Given the description of an element on the screen output the (x, y) to click on. 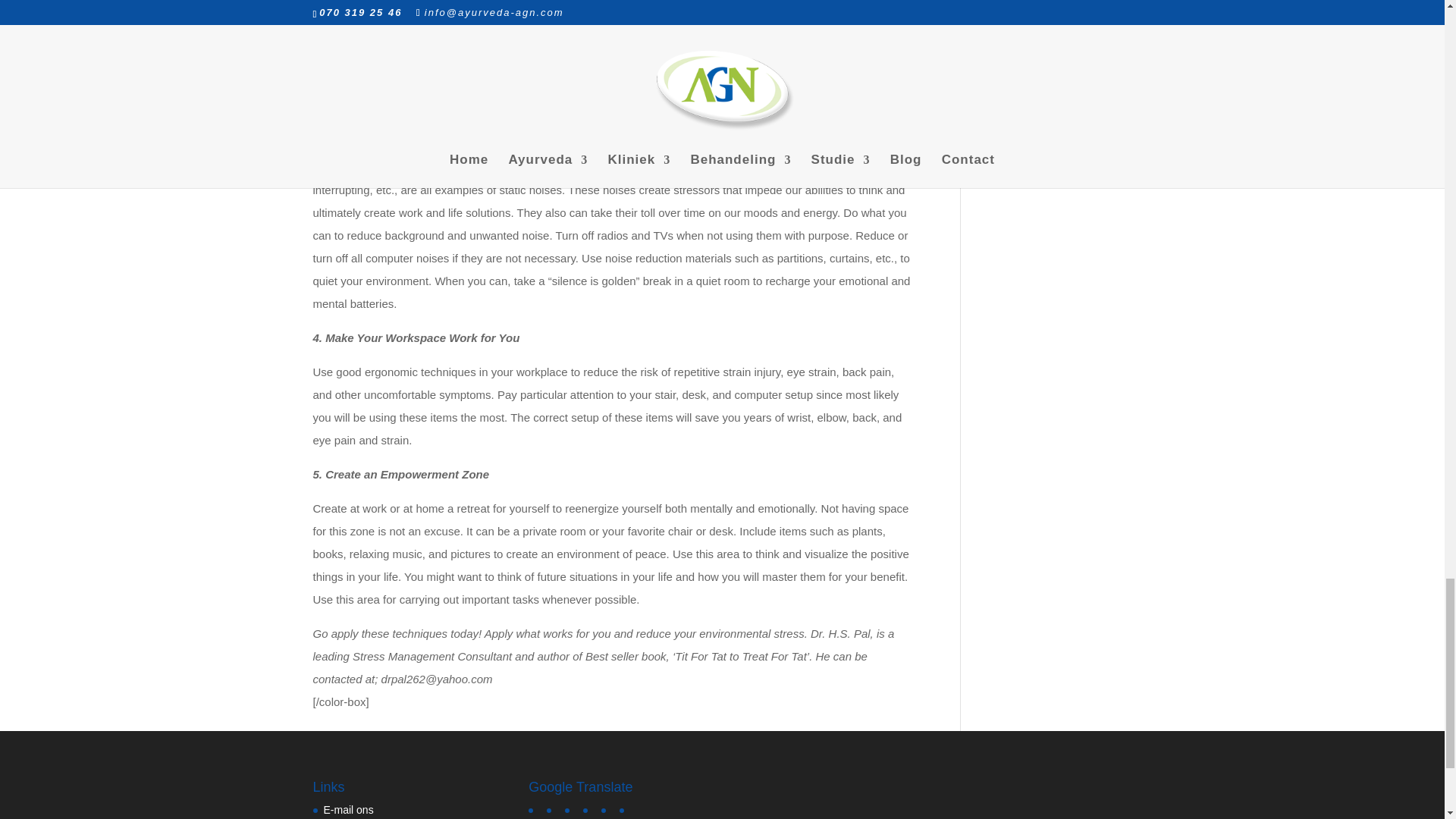
Dutch (609, 807)
Spanish (591, 807)
English (536, 807)
German (555, 807)
Portuguese (628, 807)
French (572, 807)
